Given the description of an element on the screen output the (x, y) to click on. 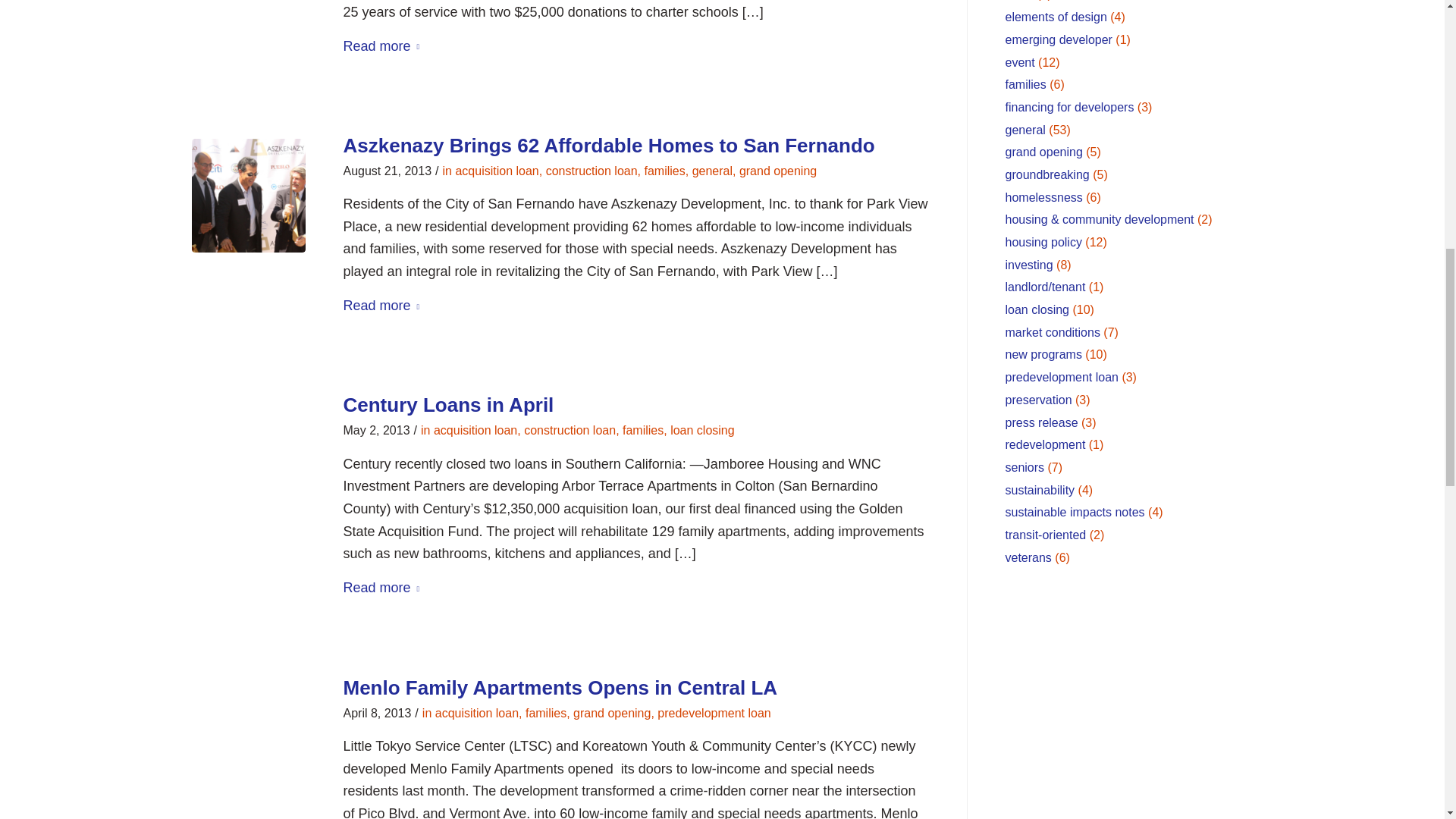
Century Loans in April (247, 454)
Menlo Family Apartments Opens in Central LA (247, 737)
Permanent Link: Menlo Family Apartments Opens in Central LA (559, 687)
Permanent Link: Century Loans in April (447, 404)
